Given the description of an element on the screen output the (x, y) to click on. 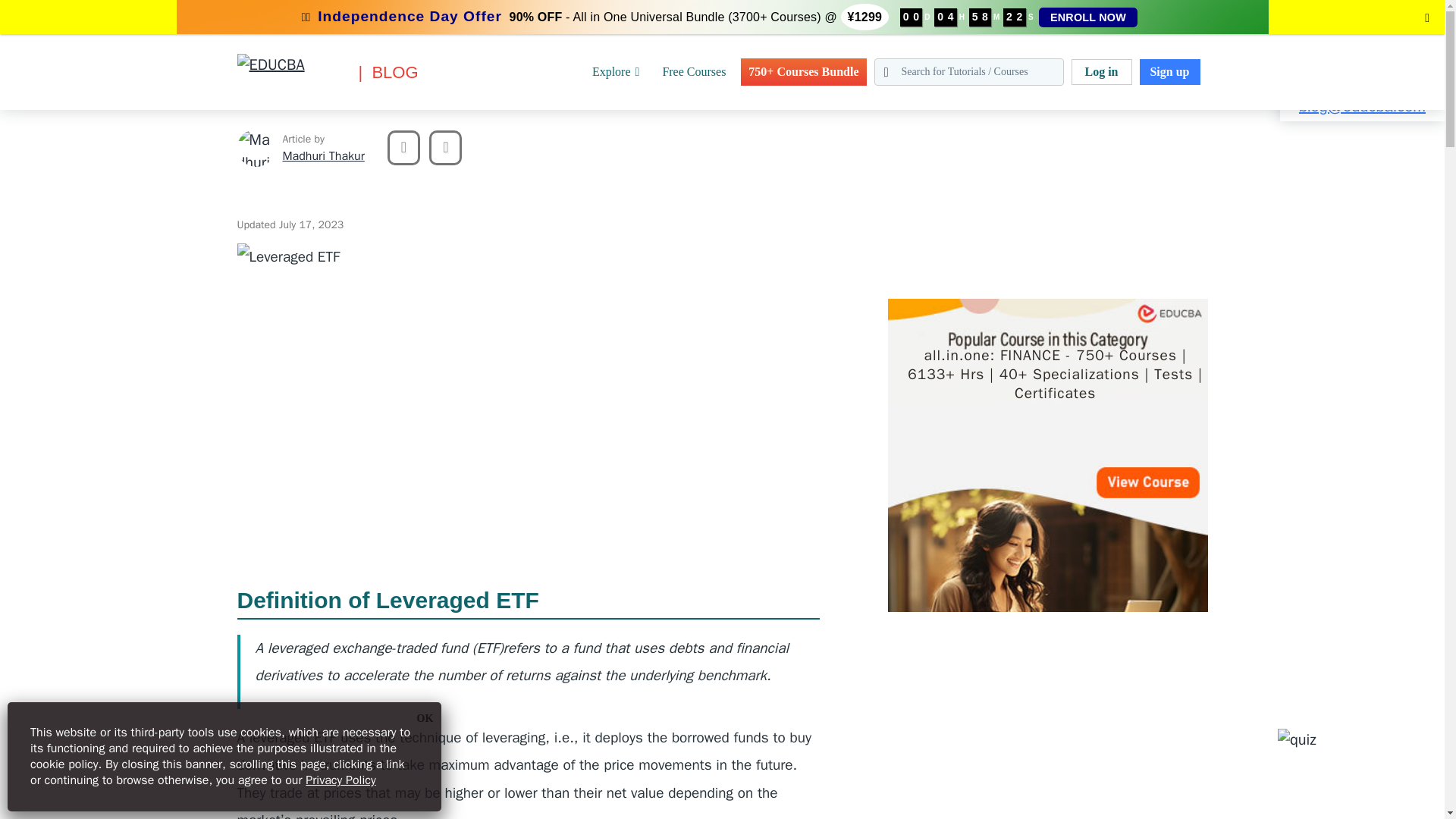
Free Courses (693, 72)
Log in (1100, 71)
Finance (58, 9)
Finance Resources (134, 9)
Sign up (1168, 71)
Home (13, 9)
Madhuri Thakur (255, 147)
EDUCBA (259, 96)
Next (445, 147)
Explore (616, 72)
